Given the description of an element on the screen output the (x, y) to click on. 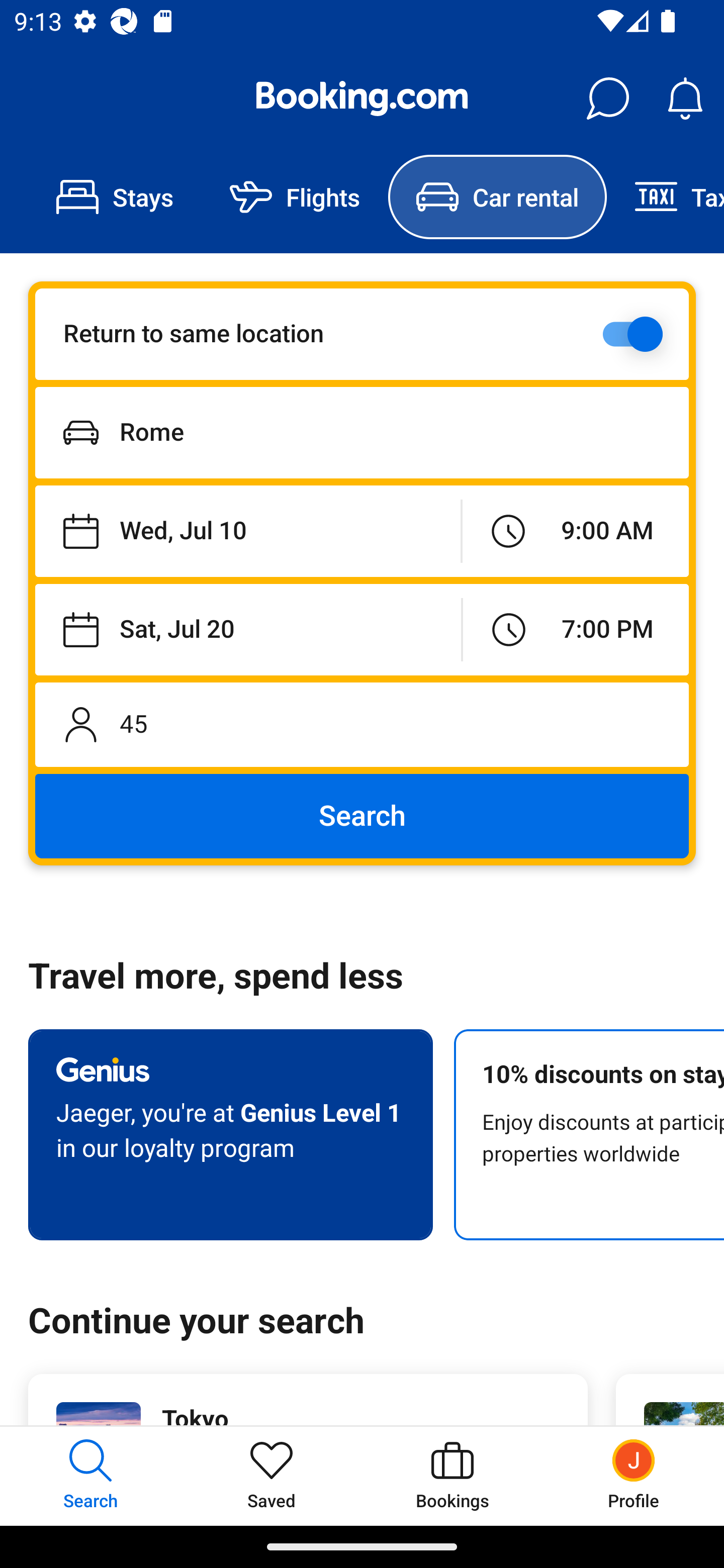
Messages (607, 98)
Notifications (685, 98)
Stays (114, 197)
Flights (294, 197)
Car rental (497, 197)
Taxi (665, 197)
Pick-up location: Text(name=Rome) (361, 432)
Pick-up date: 2024-07-10 (247, 531)
Pick-up time: 09:00:00.000 (575, 531)
Drop-off date: 2024-07-20 (248, 629)
Drop-off time: 19:00:00.000 (575, 629)
Driver's age: 45 (361, 724)
Search (361, 815)
Saved (271, 1475)
Bookings (452, 1475)
Profile (633, 1475)
